Given the description of an element on the screen output the (x, y) to click on. 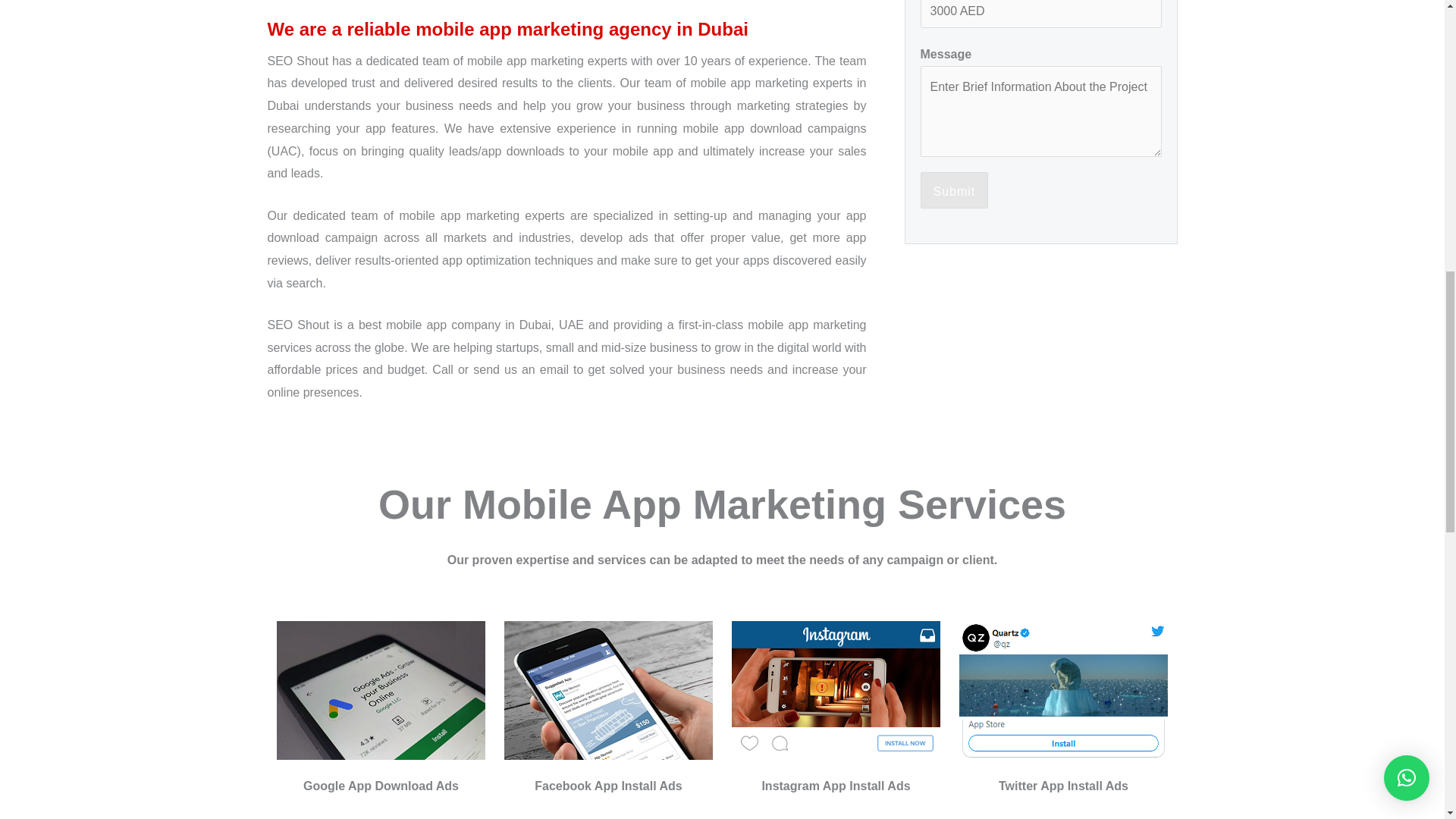
Submit (954, 189)
